Given the description of an element on the screen output the (x, y) to click on. 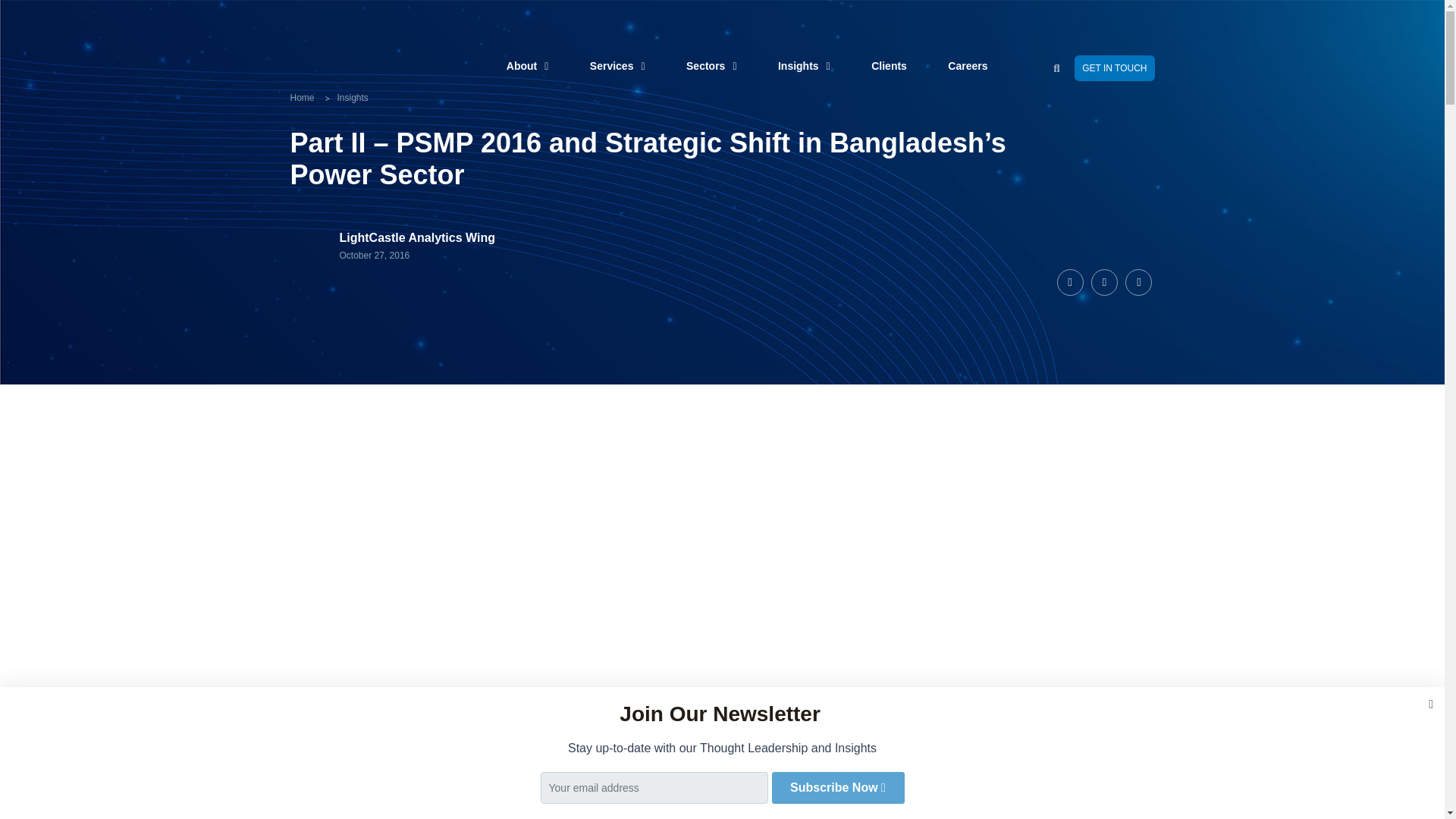
Share With LinkedIn (1138, 281)
Share with Facebook (1070, 281)
Share with LinkedIn (1104, 281)
